Given the description of an element on the screen output the (x, y) to click on. 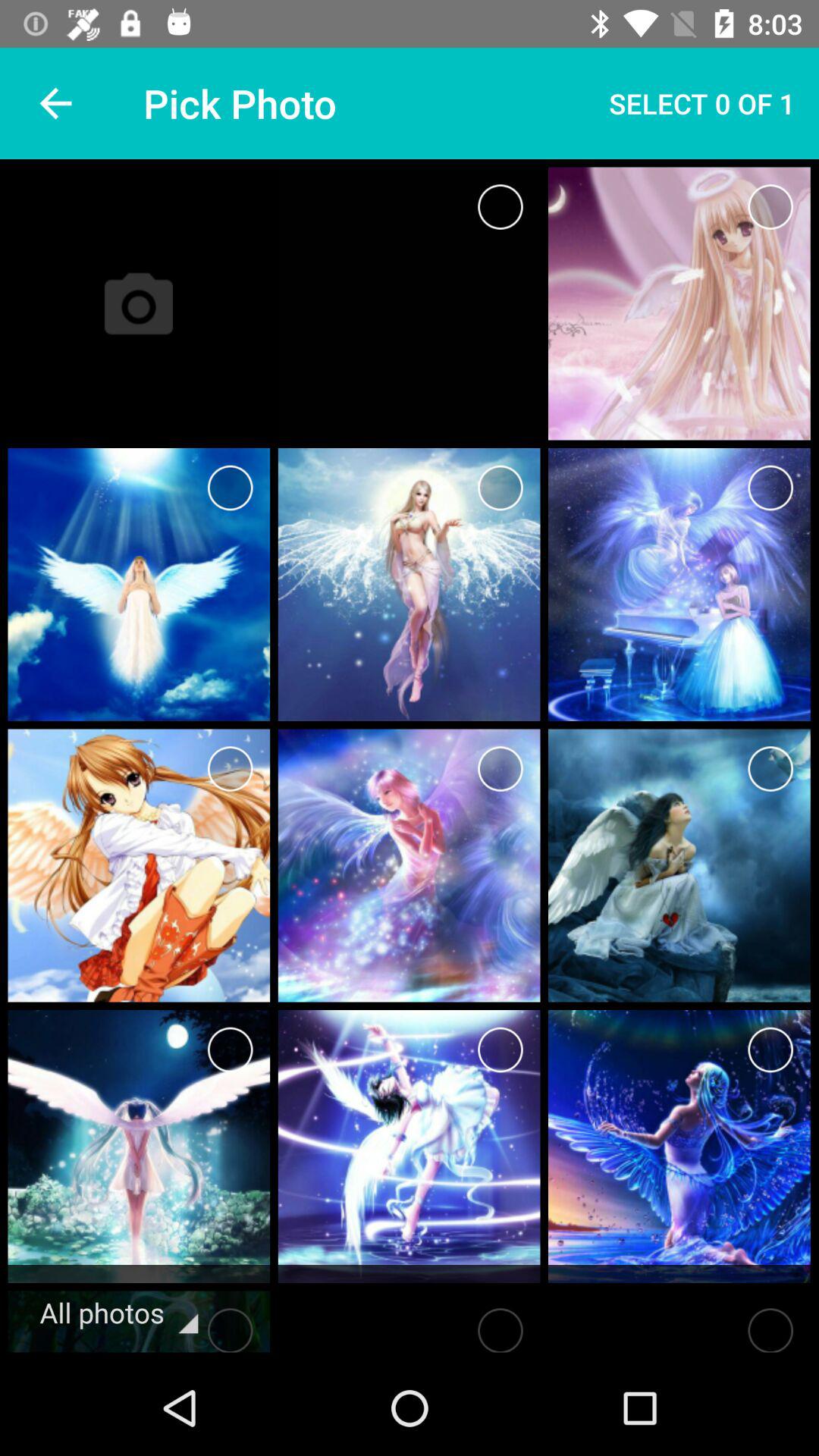
select photo s (770, 487)
